Given the description of an element on the screen output the (x, y) to click on. 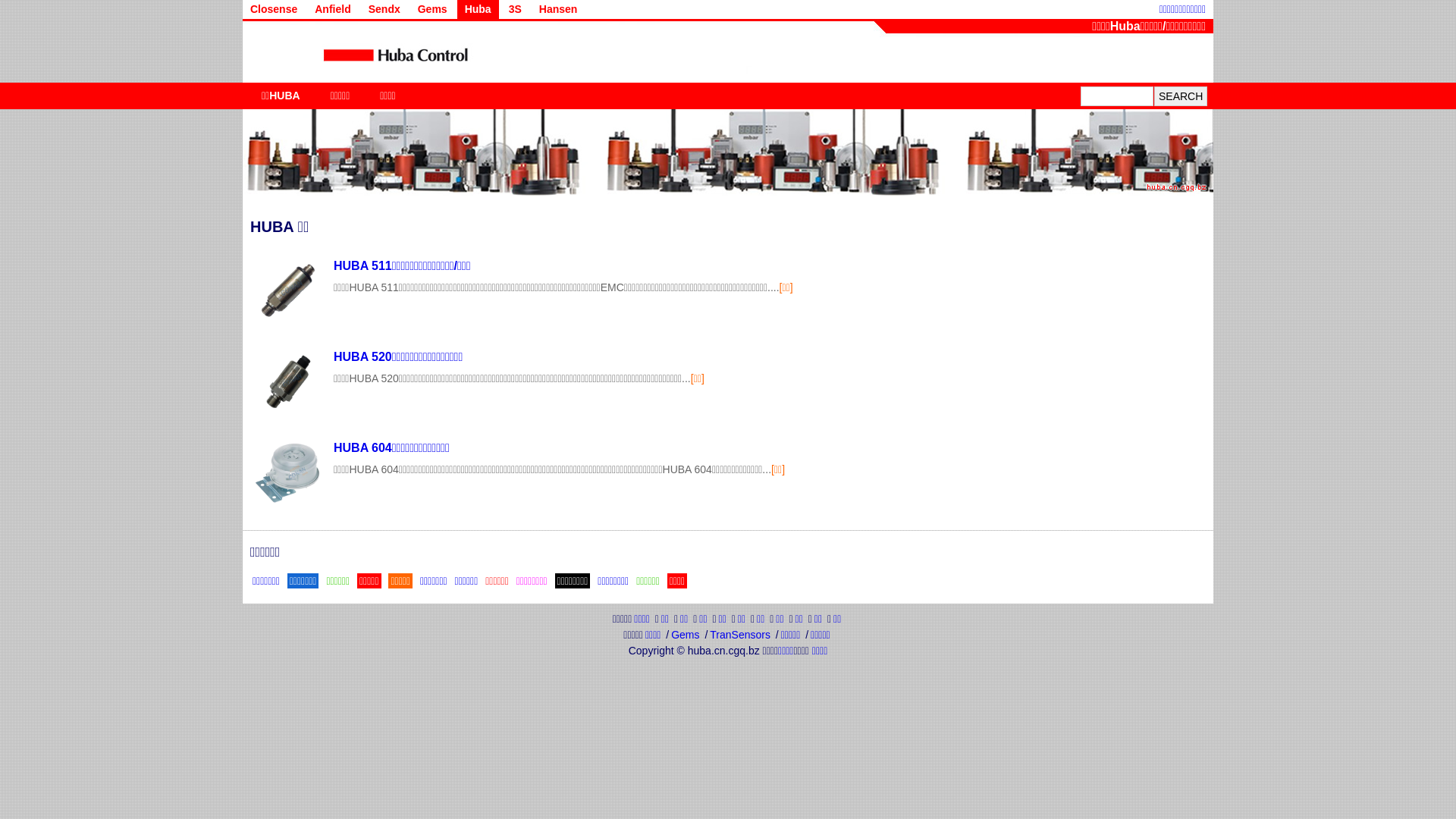
Sendx Element type: text (383, 9)
Anfield Element type: text (332, 9)
3S Element type: text (515, 9)
SEARCH Element type: text (1180, 96)
Hansen Element type: text (558, 9)
Huba Element type: text (477, 9)
Closense Element type: text (273, 9)
Gems Element type: text (685, 634)
TranSensors Element type: text (739, 634)
Gems Element type: text (432, 9)
